Given the description of an element on the screen output the (x, y) to click on. 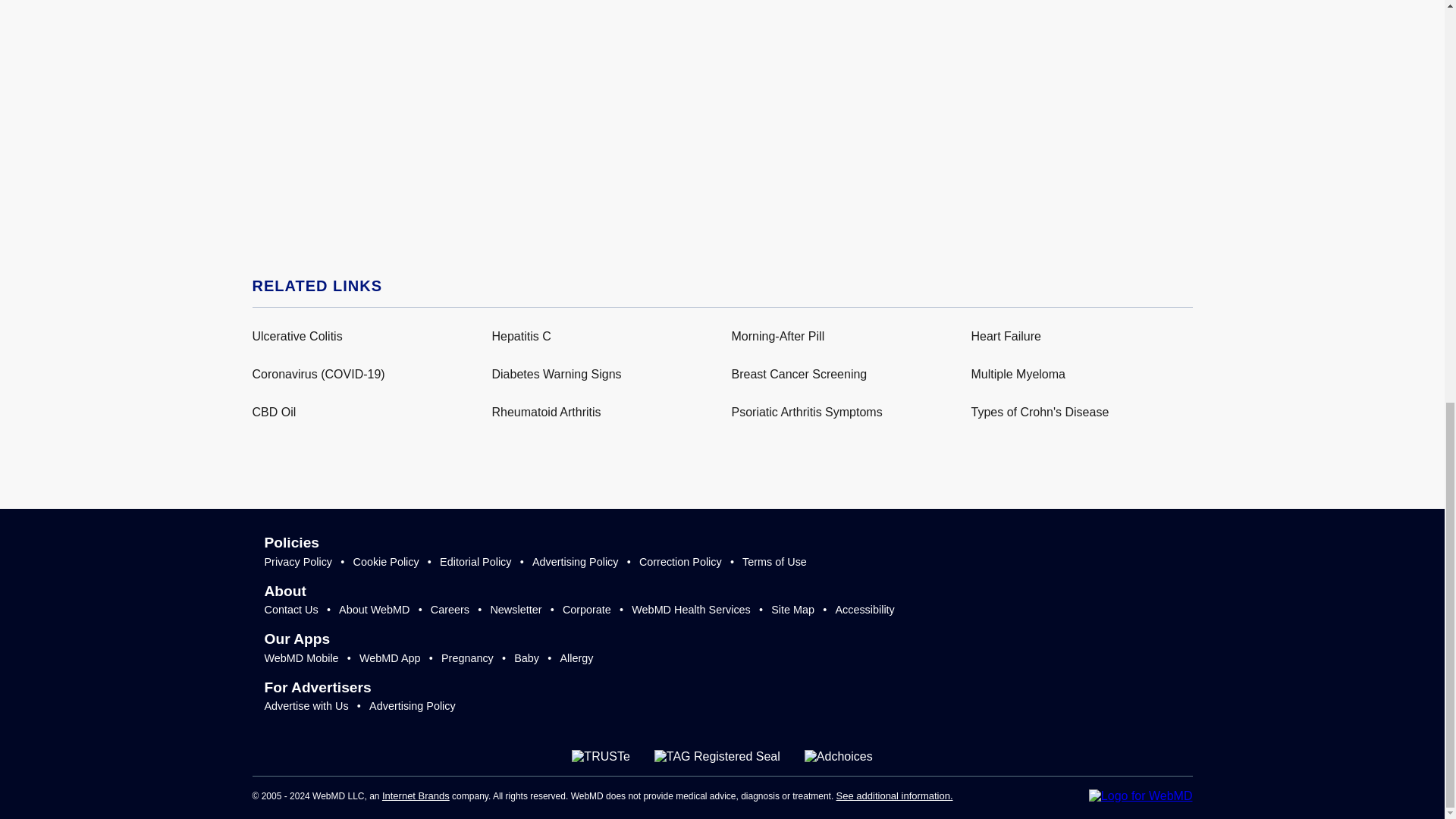
TAG Registered Seal (716, 756)
WebMD: Better information. Better health. (1140, 796)
TRUSTe Privacy Certification (600, 756)
Adchoices (838, 756)
